Given the description of an element on the screen output the (x, y) to click on. 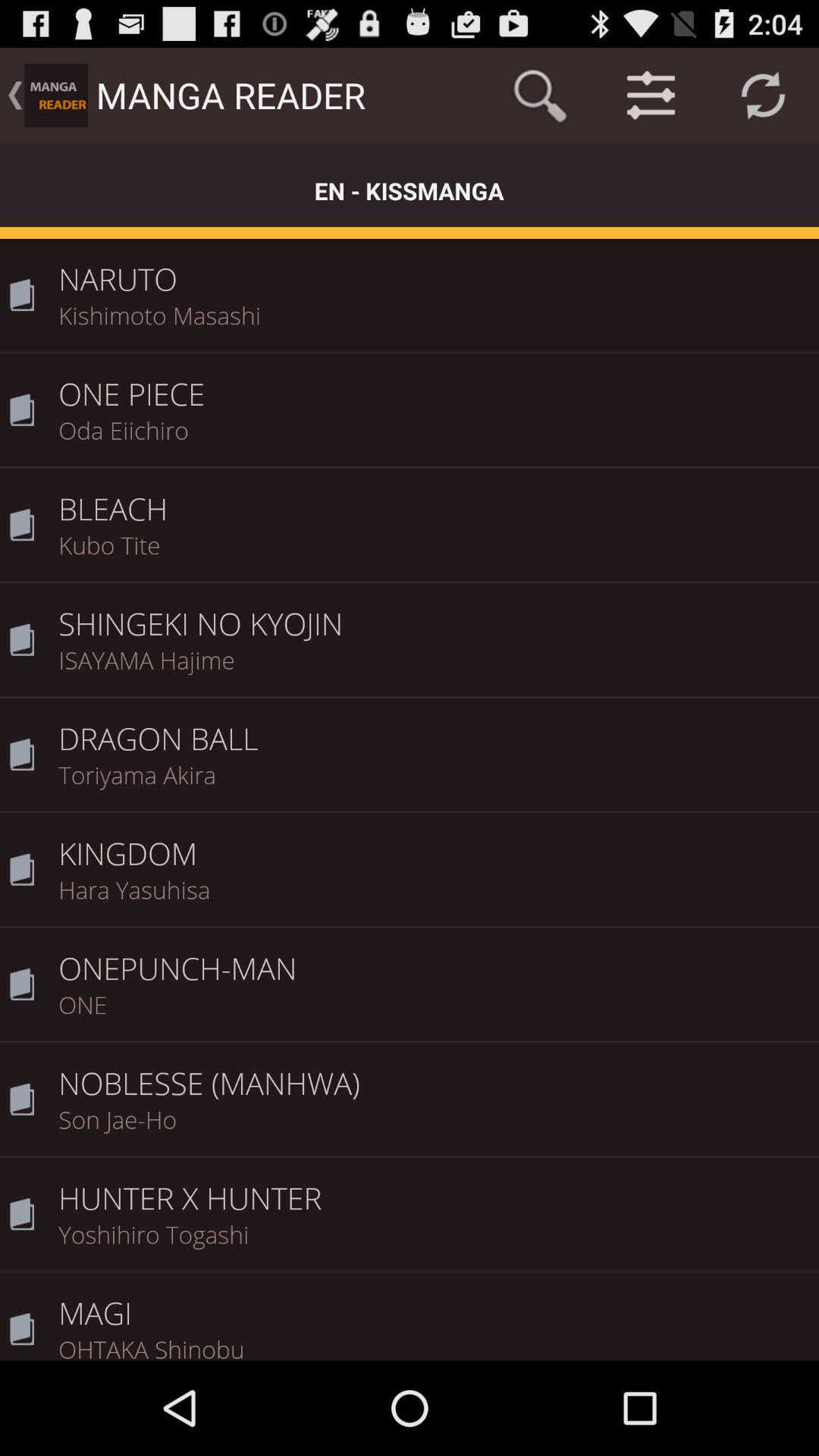
choose the icon above bleach icon (433, 440)
